Given the description of an element on the screen output the (x, y) to click on. 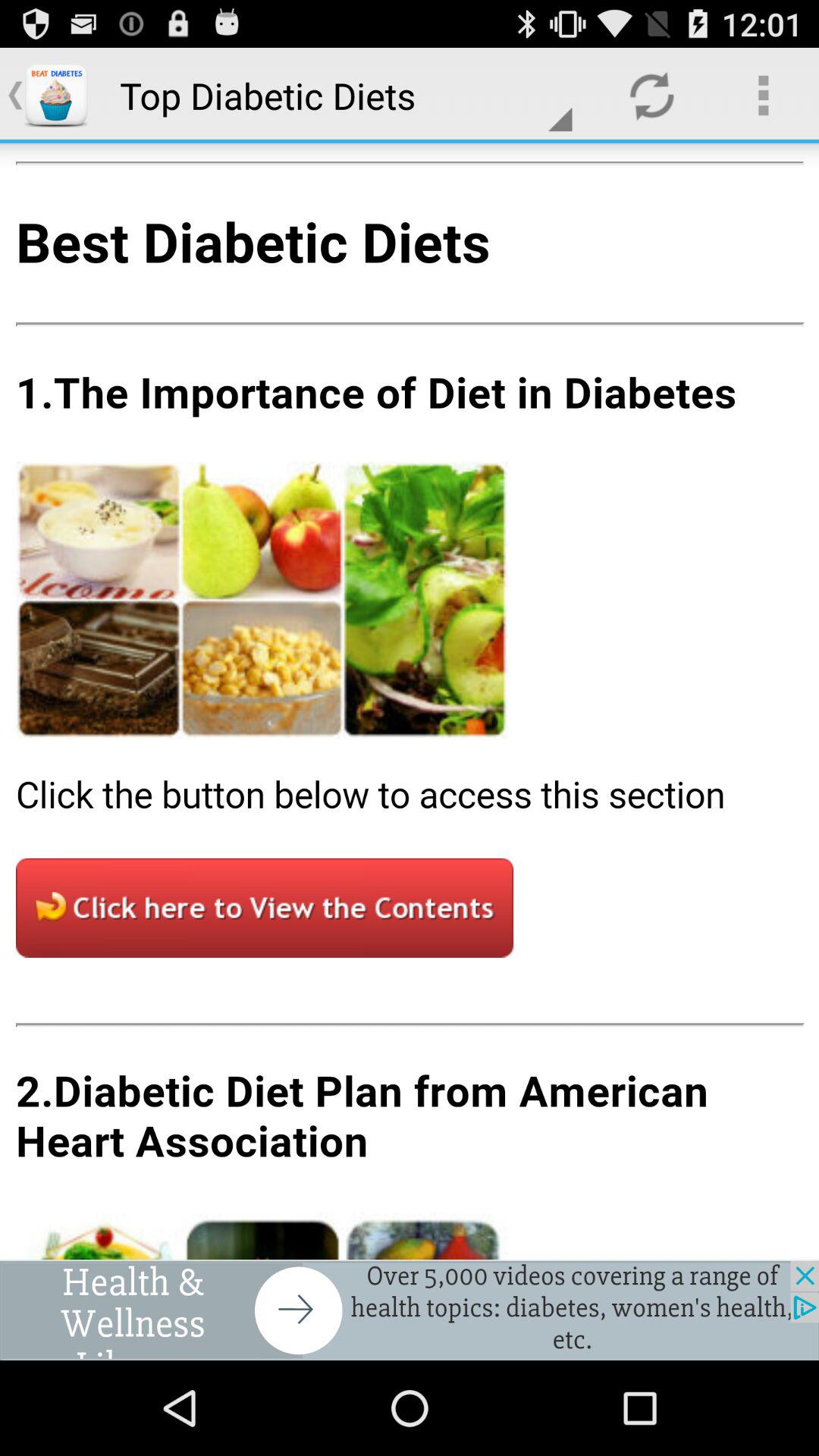
advertisement (409, 1310)
